Given the description of an element on the screen output the (x, y) to click on. 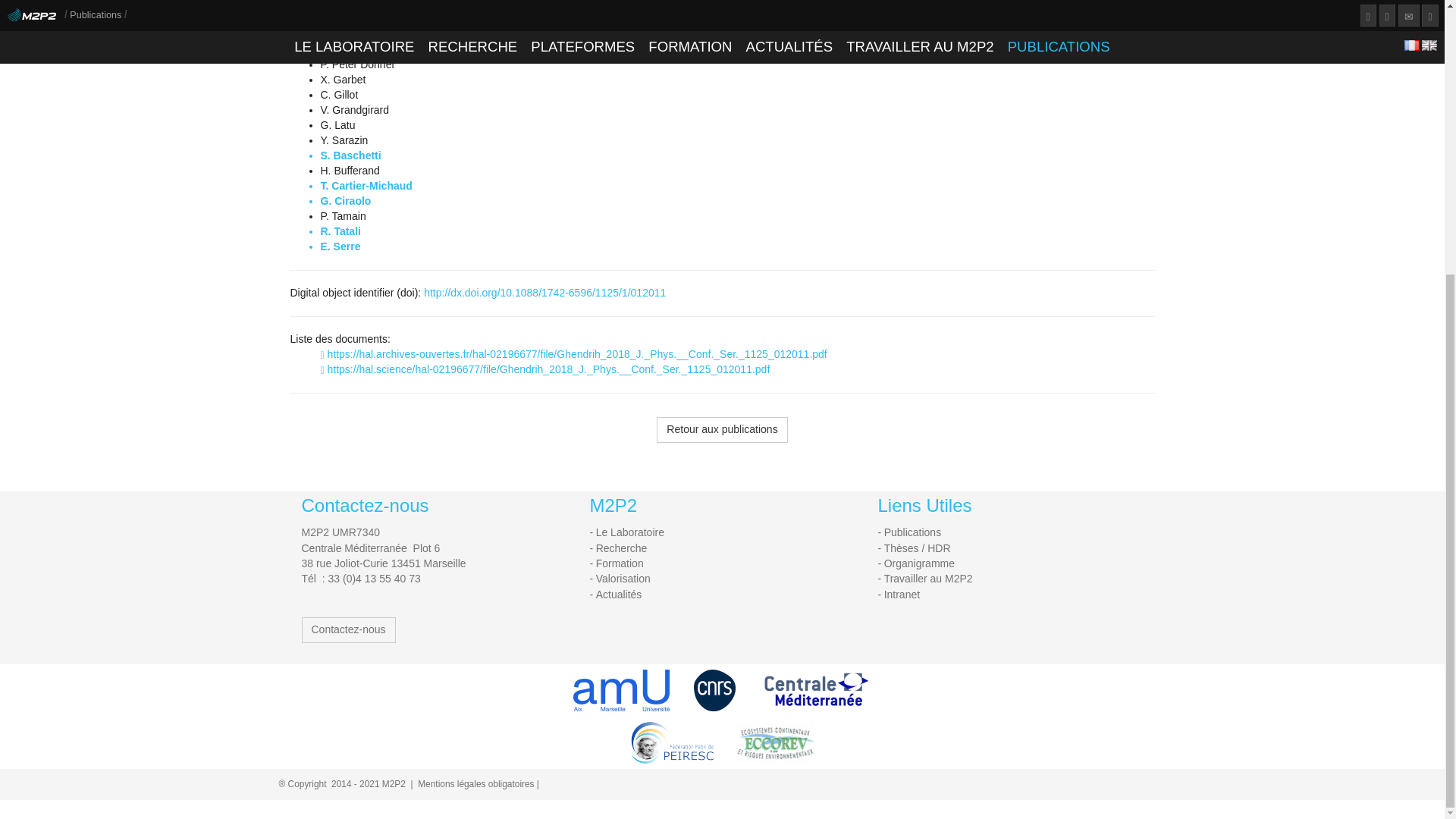
Contactez-nous (348, 629)
